Given the description of an element on the screen output the (x, y) to click on. 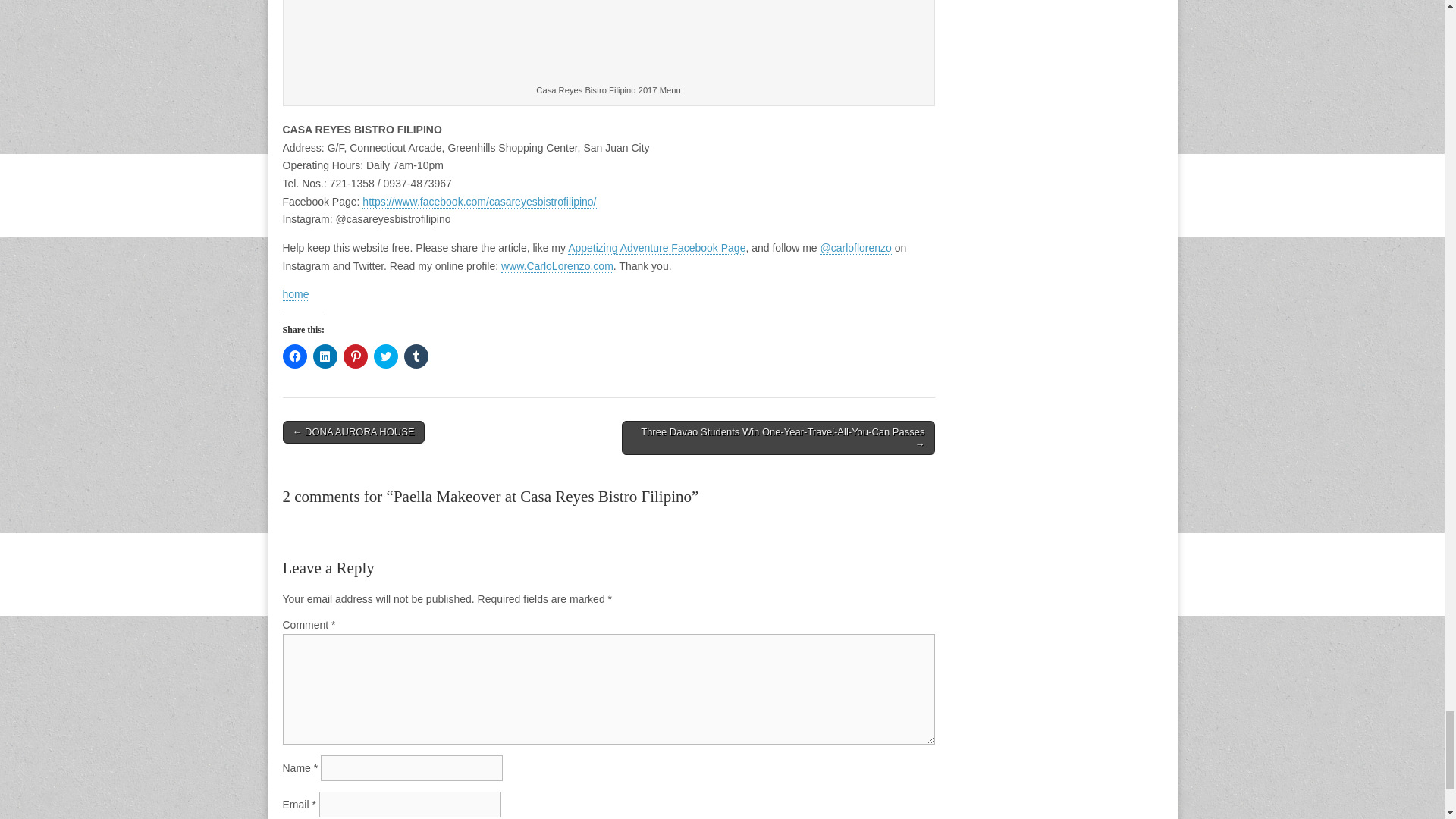
Click to share on Facebook (293, 355)
Click to share on Tumblr (415, 355)
Carlo Lorenzo's online profile (556, 266)
home (295, 294)
Click to share on Pinterest (354, 355)
Click to share on LinkedIn (324, 355)
Appetizing Adventure Facebook Page (656, 247)
Click to share on Twitter (384, 355)
